Given the description of an element on the screen output the (x, y) to click on. 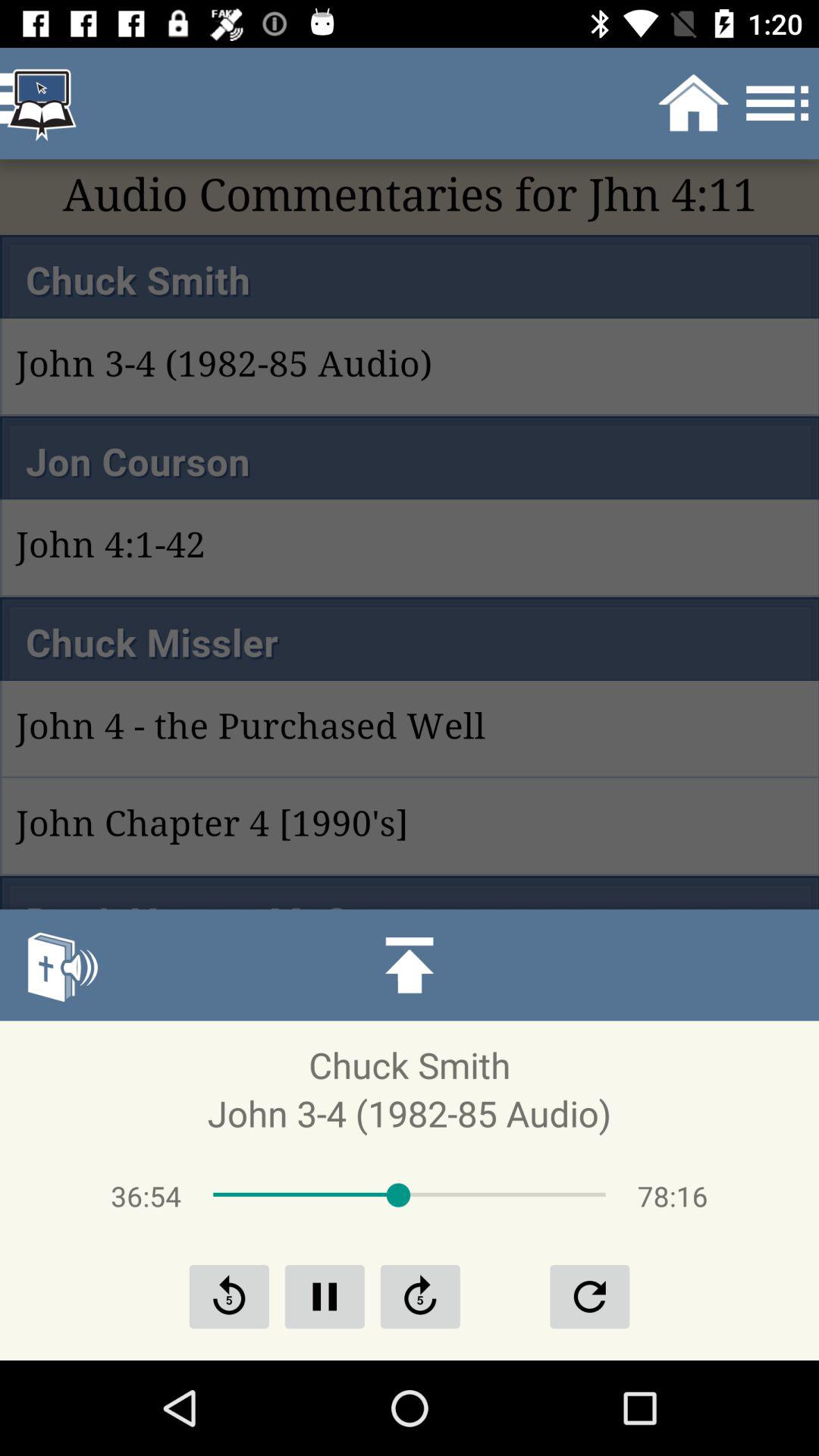
replay the audio (589, 1296)
